Given the description of an element on the screen output the (x, y) to click on. 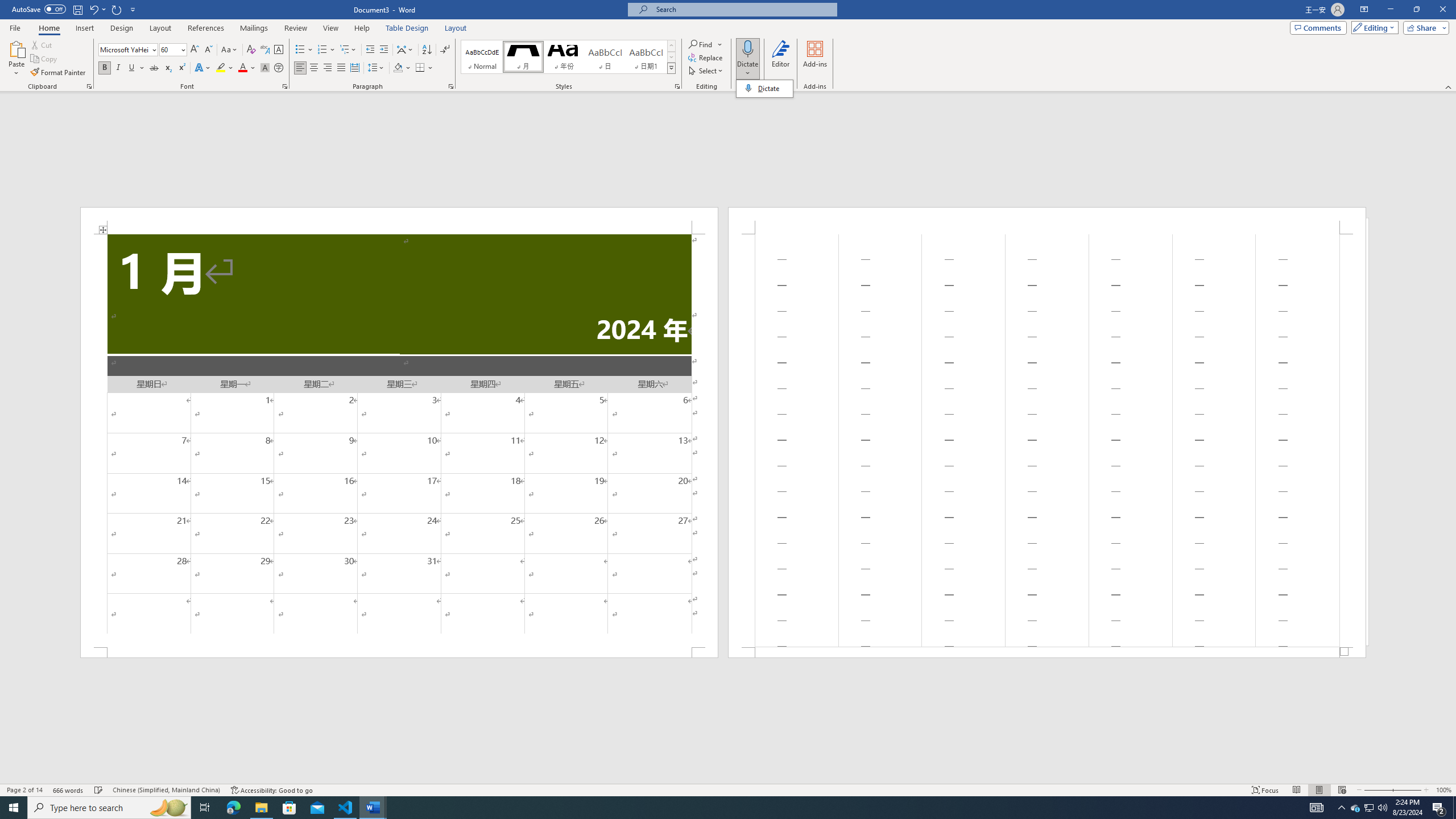
Text Effects and Typography (202, 67)
Dictate (747, 58)
Page 1 content (398, 440)
Undo Apply Quick Style (96, 9)
Comments (1318, 27)
Font Color (246, 67)
Font (124, 49)
Copy (45, 58)
Underline (131, 67)
Word Count 666 words (68, 790)
Collapse the Ribbon (1448, 86)
Quick Access Toolbar (74, 9)
Share (1423, 27)
System (6, 6)
